Given the description of an element on the screen output the (x, y) to click on. 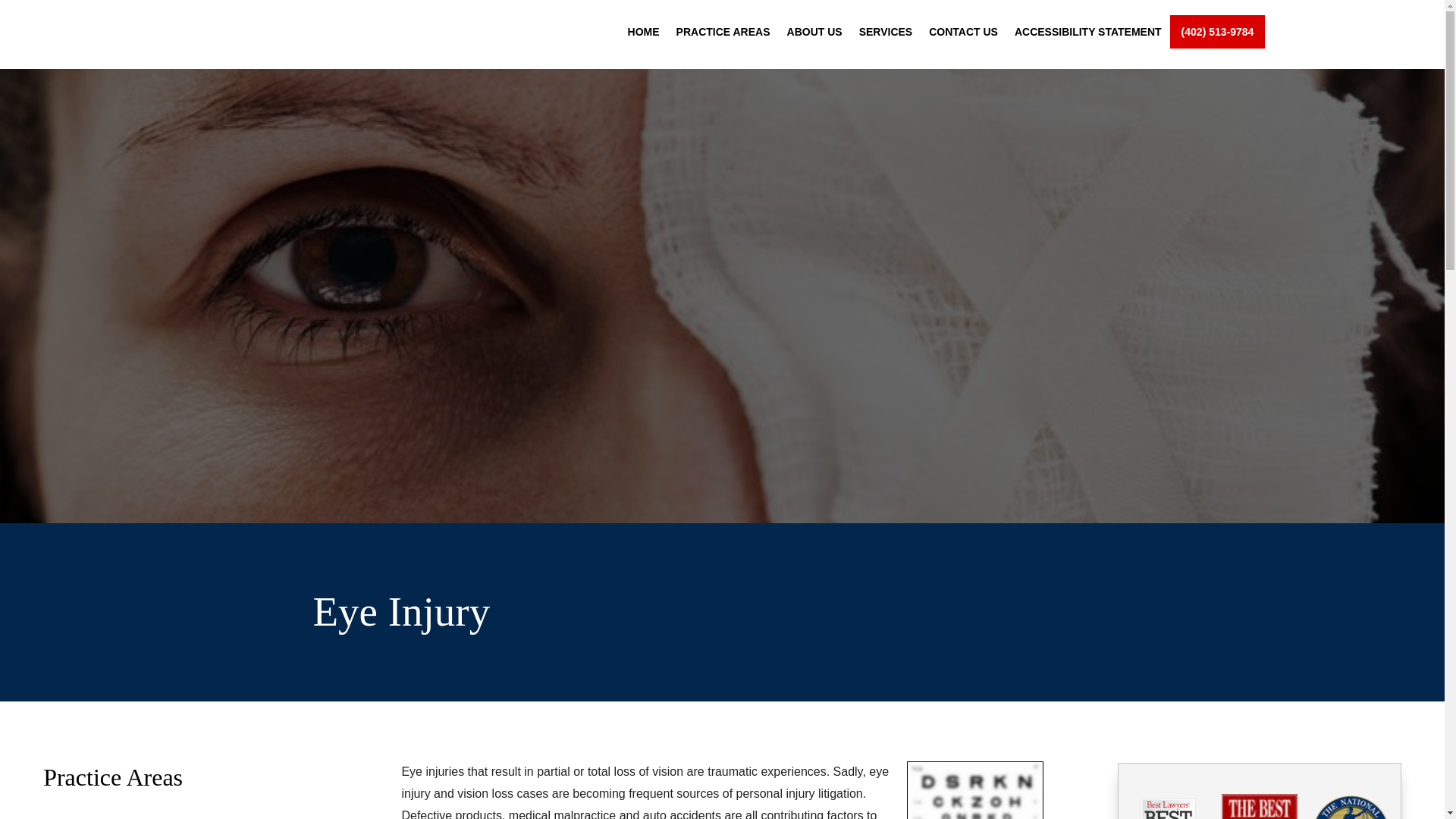
ACCESSIBILITY STATEMENT (1087, 37)
PRACTICE AREAS (723, 37)
ABOUT US (815, 37)
HOME (643, 37)
CONTACT US (962, 37)
SERVICES (885, 37)
